Given the description of an element on the screen output the (x, y) to click on. 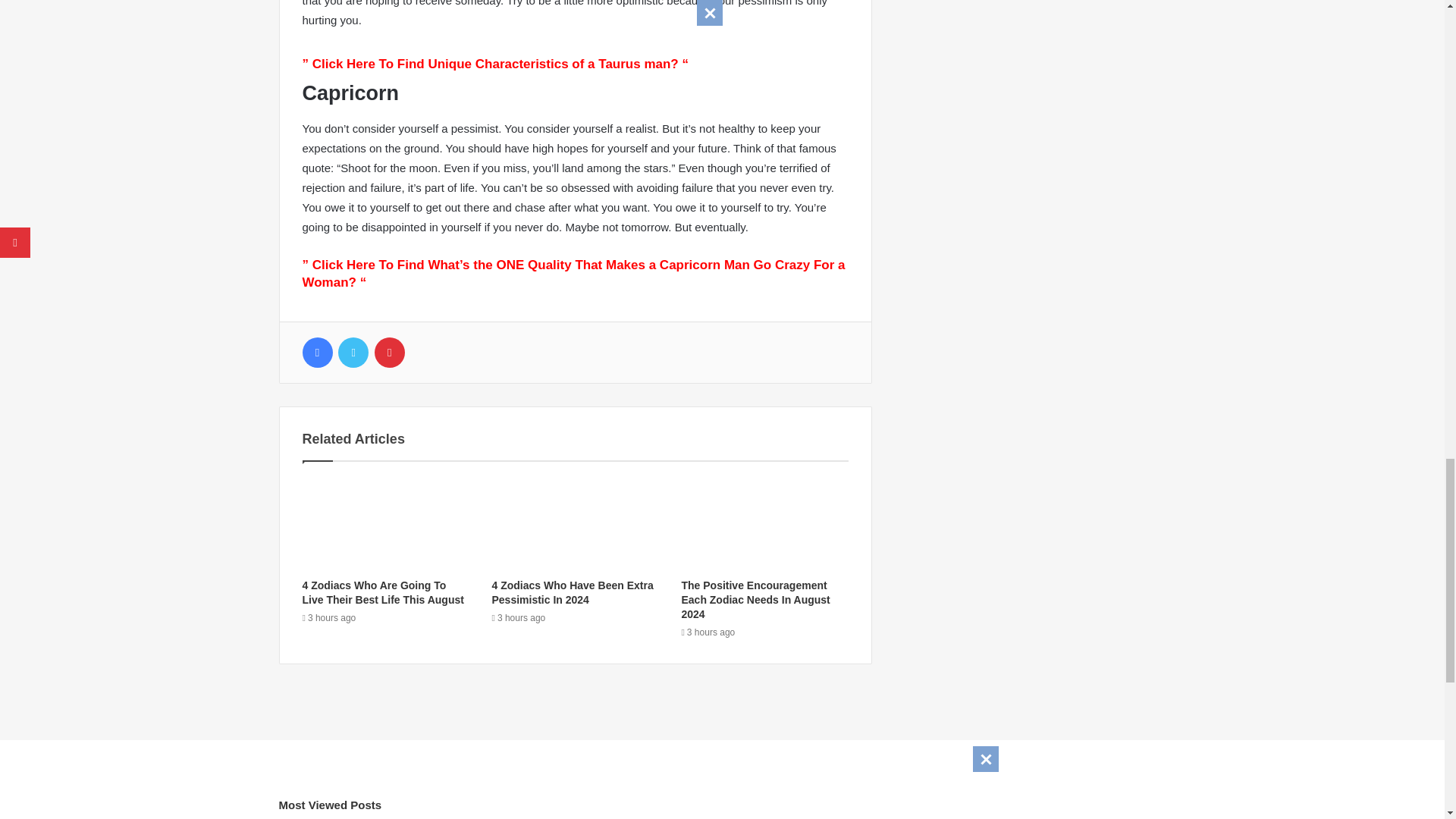
Facebook (316, 352)
Pinterest (389, 352)
4 Zodiacs Who Have Been Extra Pessimistic In 2024 (572, 592)
Twitter (352, 352)
4 Zodiacs Who Are Going To Live Their Best Life This August (382, 592)
